Given the description of an element on the screen output the (x, y) to click on. 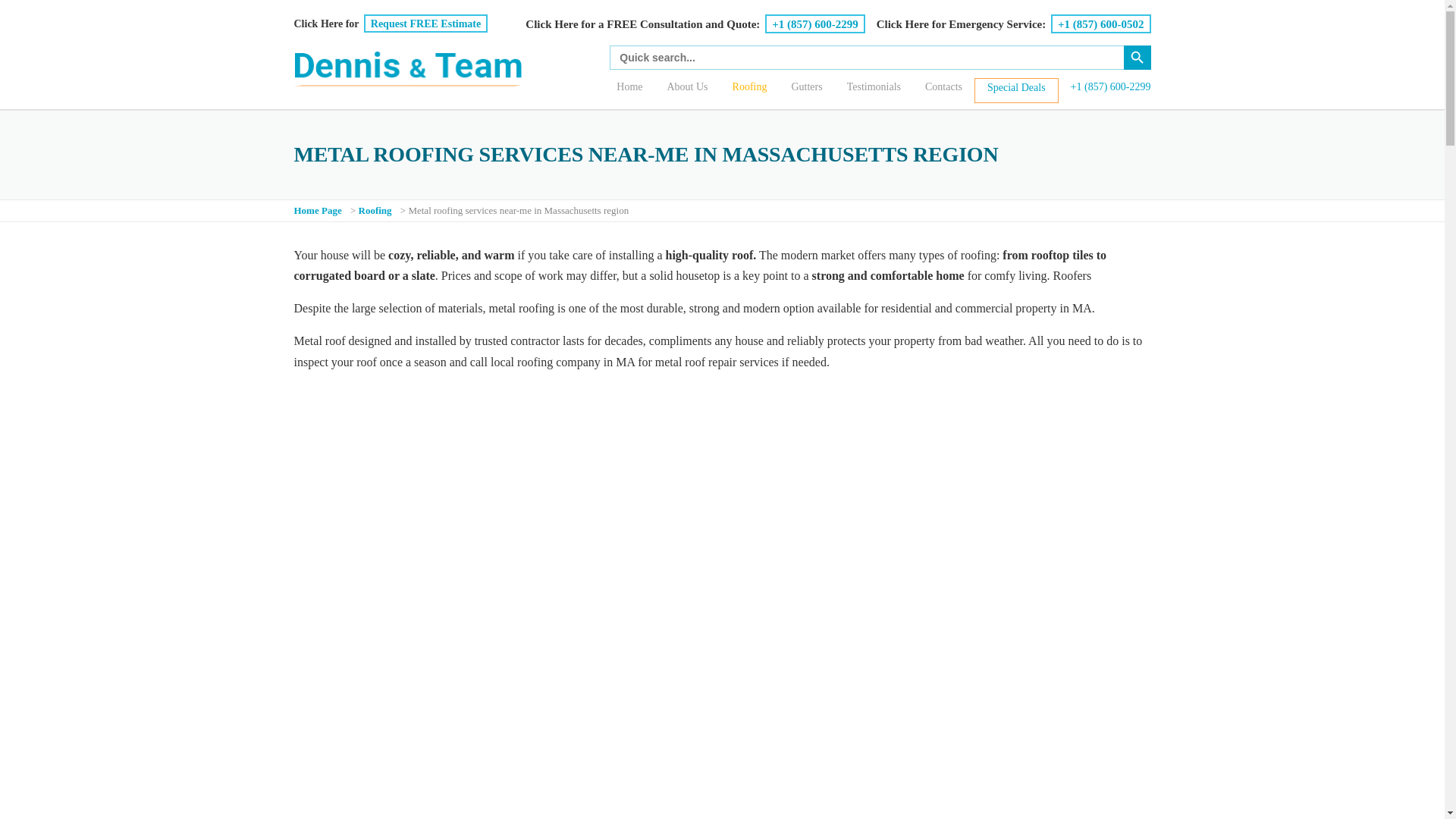
Roofing (376, 210)
Request FREE Estimate (425, 23)
Home Page (319, 210)
Testimonials (873, 88)
Gutters (806, 88)
Home (628, 88)
About Us (686, 88)
Go to Roofing. (376, 210)
Go to Home Page. (319, 210)
Special Deals (1016, 89)
